Given the description of an element on the screen output the (x, y) to click on. 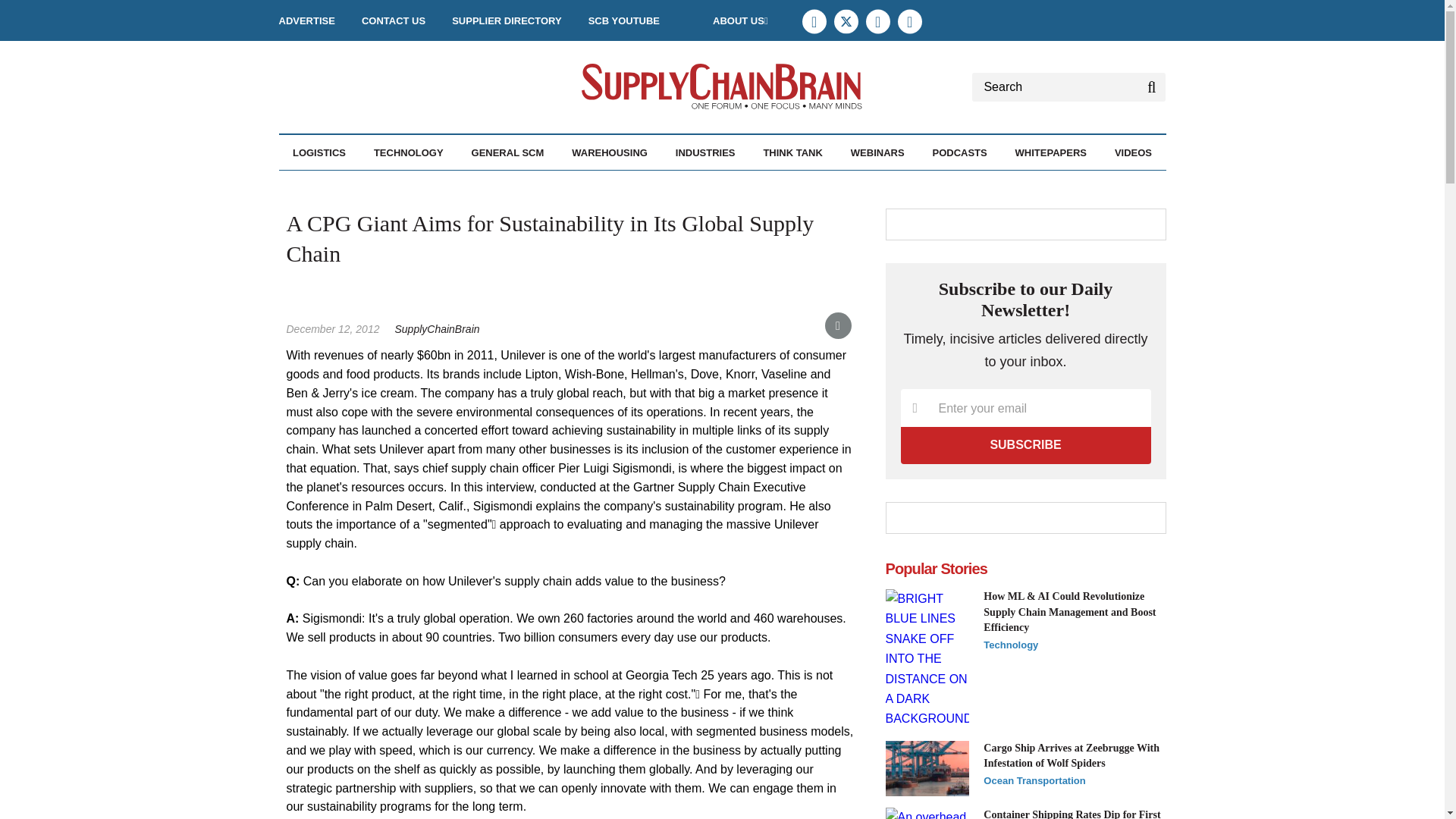
SUPPLIER DIRECTORY (505, 20)
port-containers-bloomberg-414019858.jpg (927, 813)
Subscribe (1026, 444)
Global Logistics (398, 184)
Facility Location Planning (381, 193)
CONTACT US (393, 20)
SCB YOUTUBE (623, 20)
Service Parts Management (413, 193)
ABOUT US (740, 20)
Logistics Outsourcing (404, 184)
All Logistics (375, 184)
Air Cargo (368, 184)
Last Mile Delivery (401, 184)
TECHNOLOGY (409, 152)
LOGISTICS (319, 152)
